Given the description of an element on the screen output the (x, y) to click on. 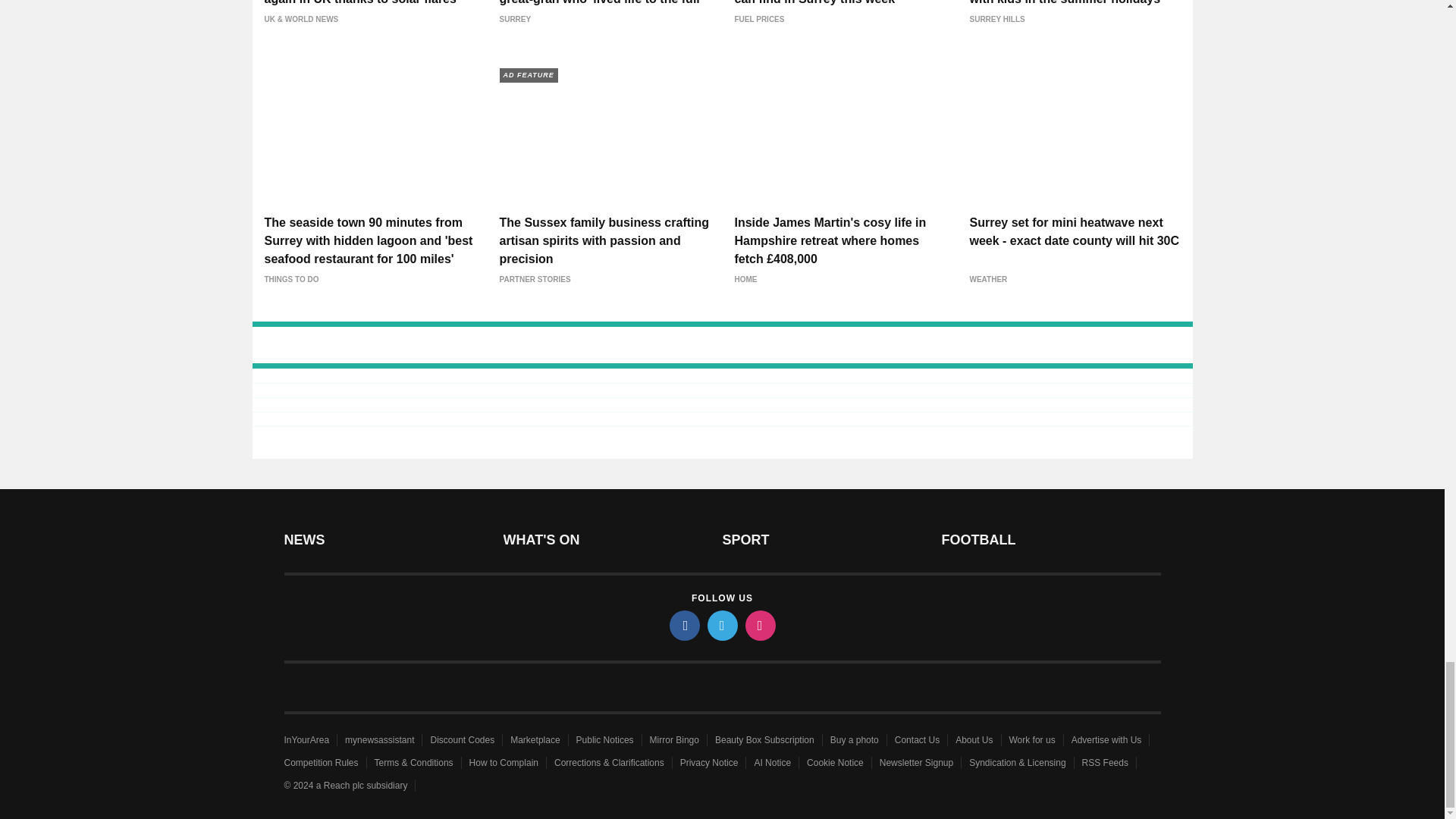
instagram (759, 625)
twitter (721, 625)
facebook (683, 625)
